Given the description of an element on the screen output the (x, y) to click on. 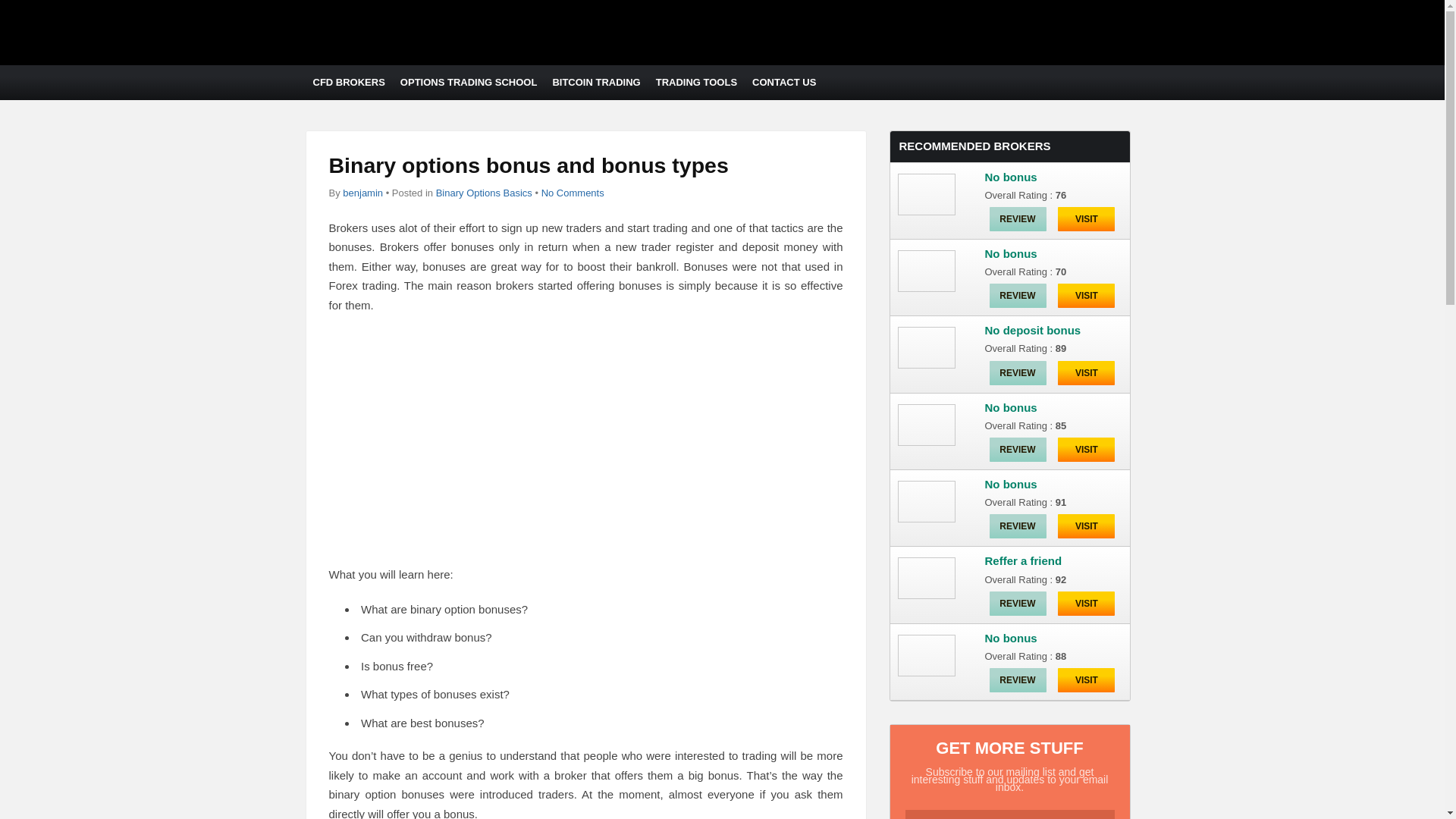
Enter your email here (1010, 814)
BITCOIN TRADING (595, 82)
REVIEW (1016, 295)
VISIT (1086, 372)
Binary Options Basics (483, 193)
REVIEW (1016, 449)
Posts by benjamin (362, 193)
No Comments (572, 193)
benjamin (362, 193)
VISIT (1086, 218)
REVIEW (1016, 372)
VISIT (1086, 449)
REVIEW (1016, 218)
CFD BROKERS (347, 82)
OPTIONS TRADING SCHOOL (468, 82)
